Given the description of an element on the screen output the (x, y) to click on. 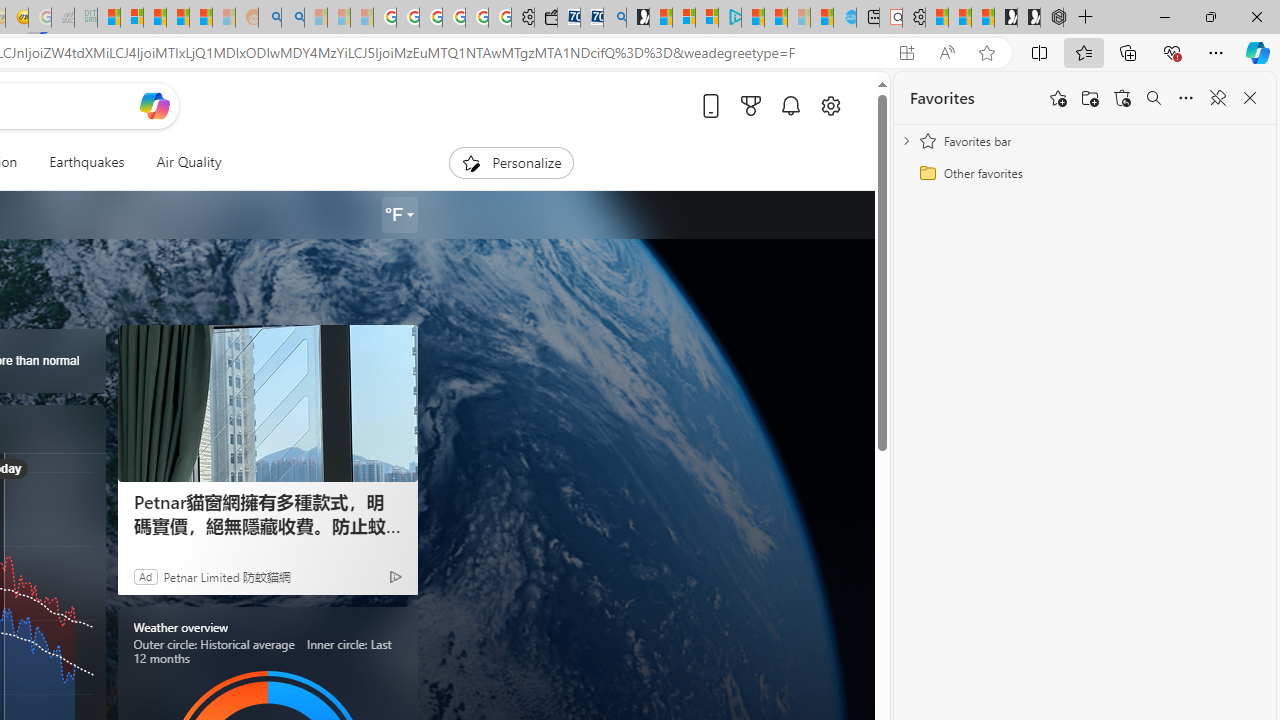
Wallet (545, 17)
Weather settings (399, 215)
Utah sues federal government - Search (292, 17)
